Given the description of an element on the screen output the (x, y) to click on. 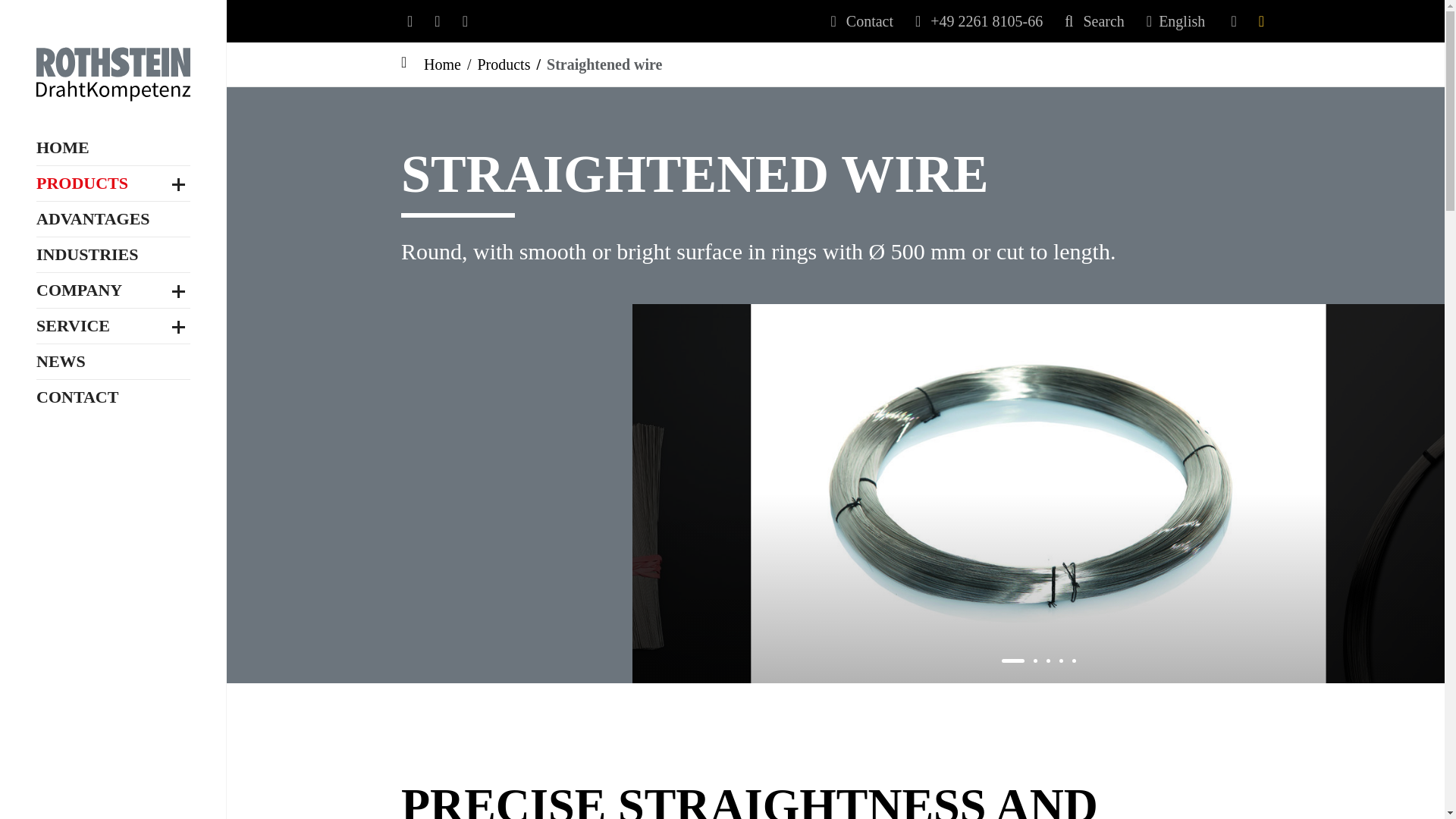
ADVANTAGES (92, 218)
CONTACT (76, 397)
Search (1094, 21)
HOME (62, 147)
PRODUCTS (82, 183)
NEWS (60, 361)
Contact (862, 21)
COMPANY (79, 289)
SERVICE (73, 325)
English (1182, 21)
INDUSTRIES (87, 254)
